Given the description of an element on the screen output the (x, y) to click on. 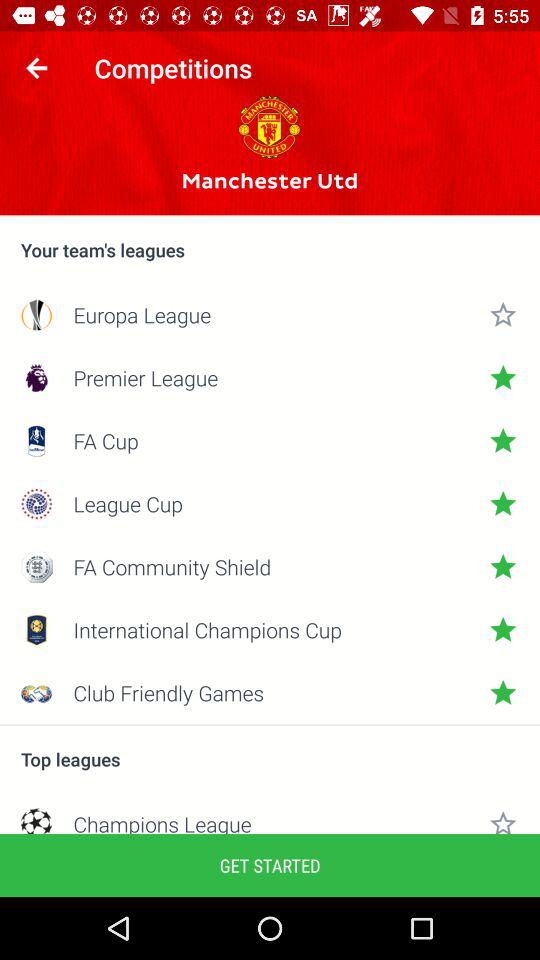
scroll until club friendly games (269, 692)
